Given the description of an element on the screen output the (x, y) to click on. 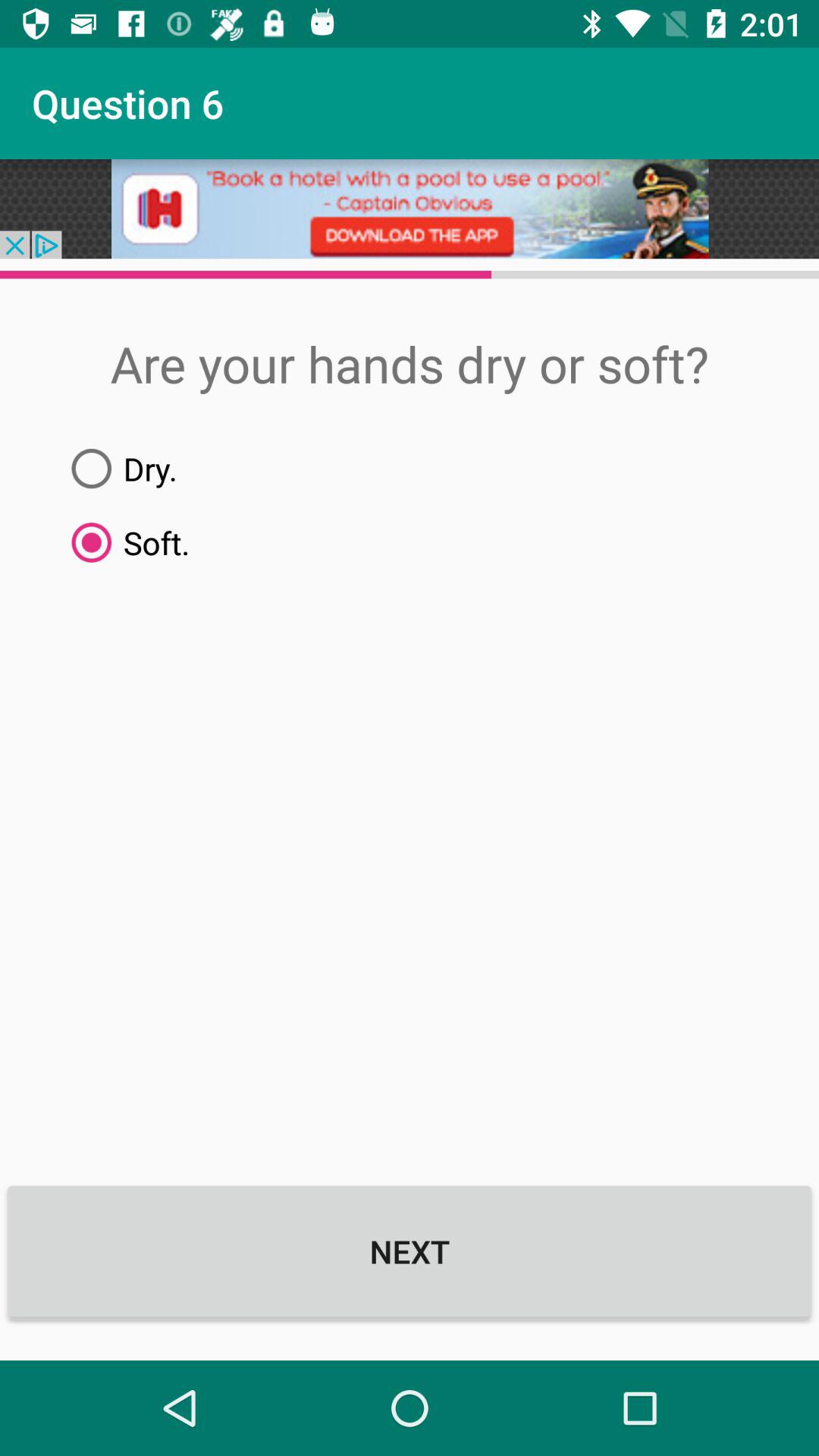
this is add banner in app (409, 208)
